Given the description of an element on the screen output the (x, y) to click on. 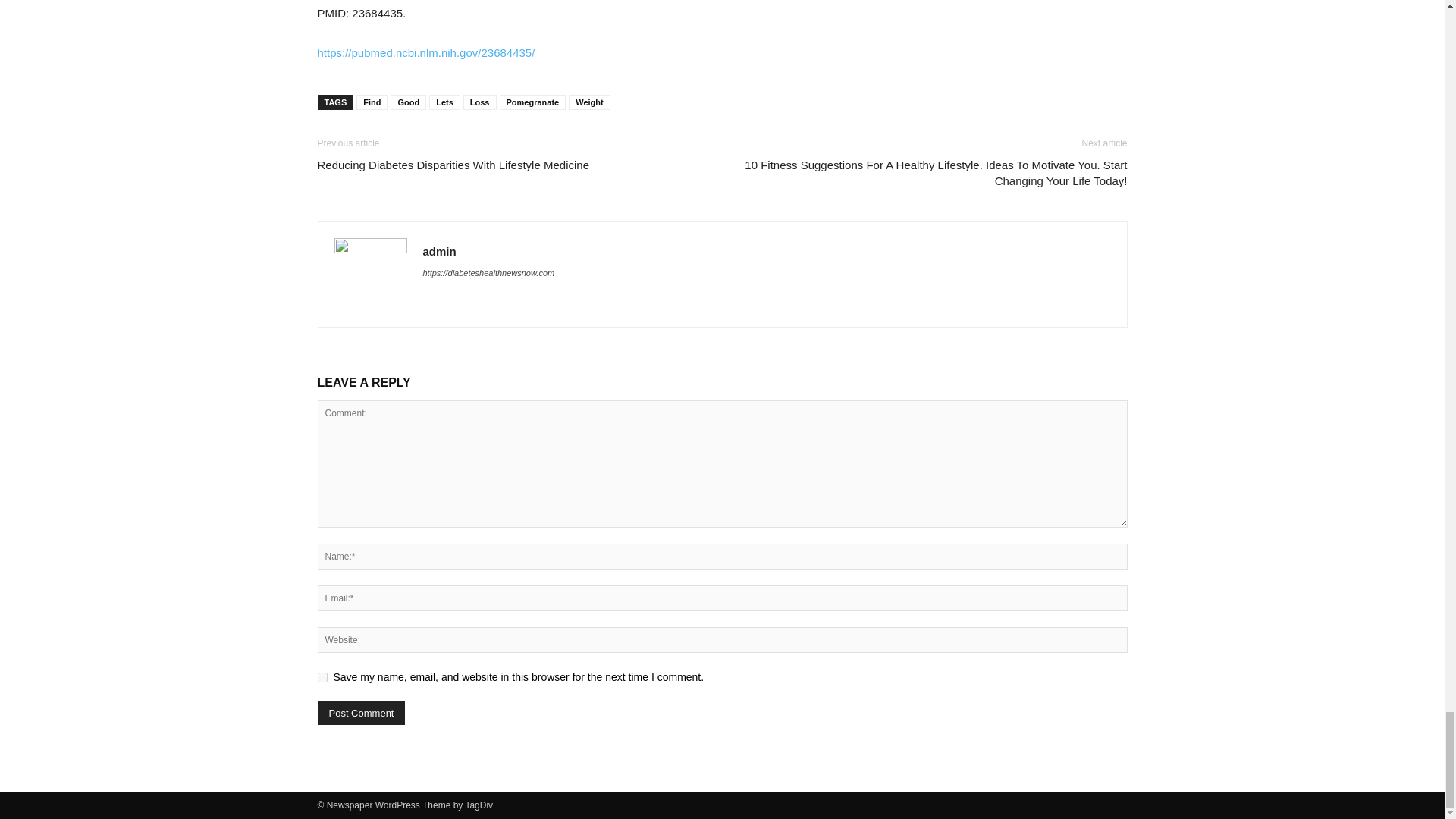
admin (440, 250)
Weight (589, 102)
Post Comment (360, 712)
Lets (444, 102)
Loss (479, 102)
Find (371, 102)
Pomegranate (532, 102)
Reducing Diabetes Disparities With Lifestyle Medicine (453, 164)
Good (408, 102)
